Given the description of an element on the screen output the (x, y) to click on. 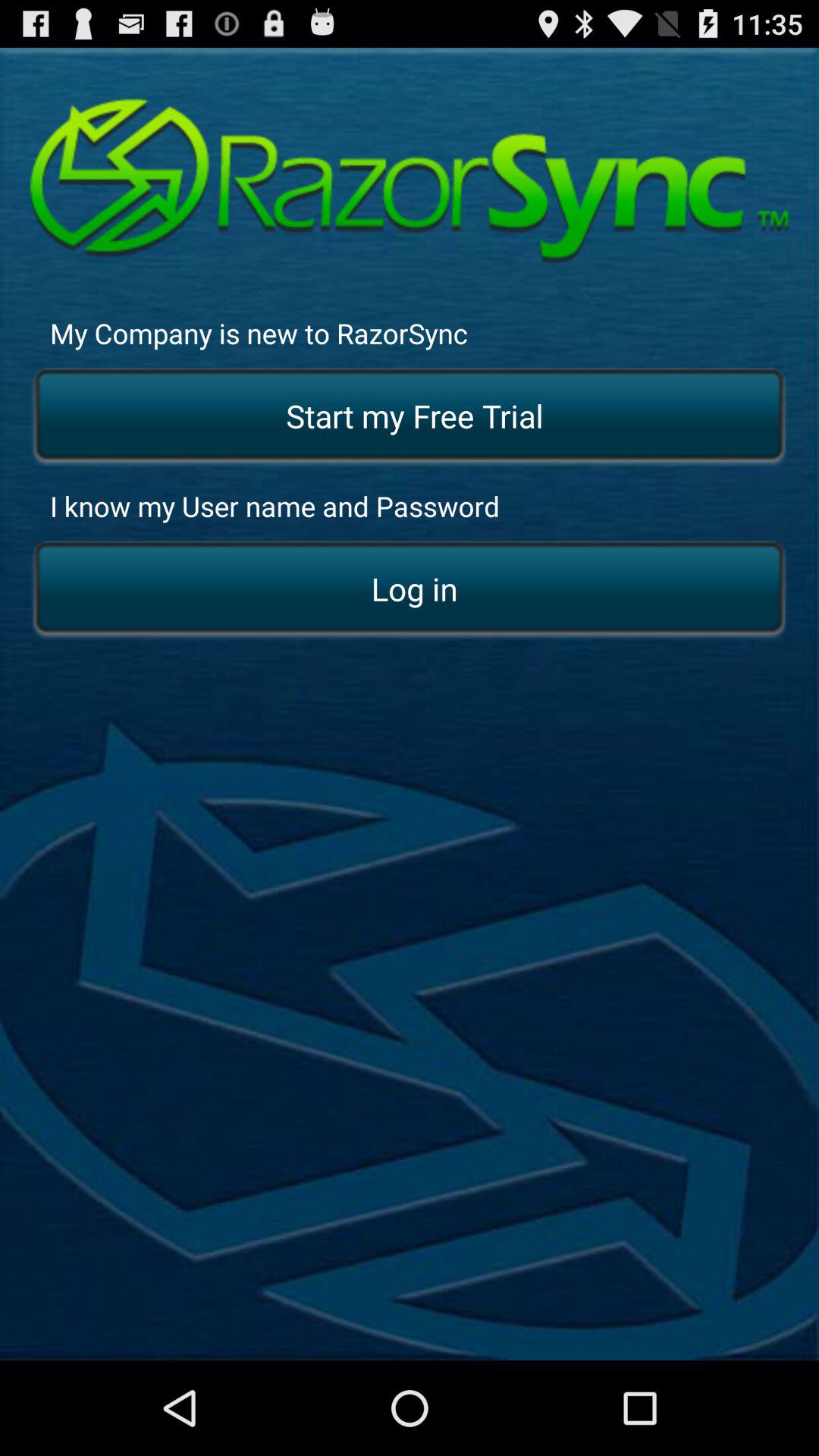
jump to log in icon (409, 590)
